Given the description of an element on the screen output the (x, y) to click on. 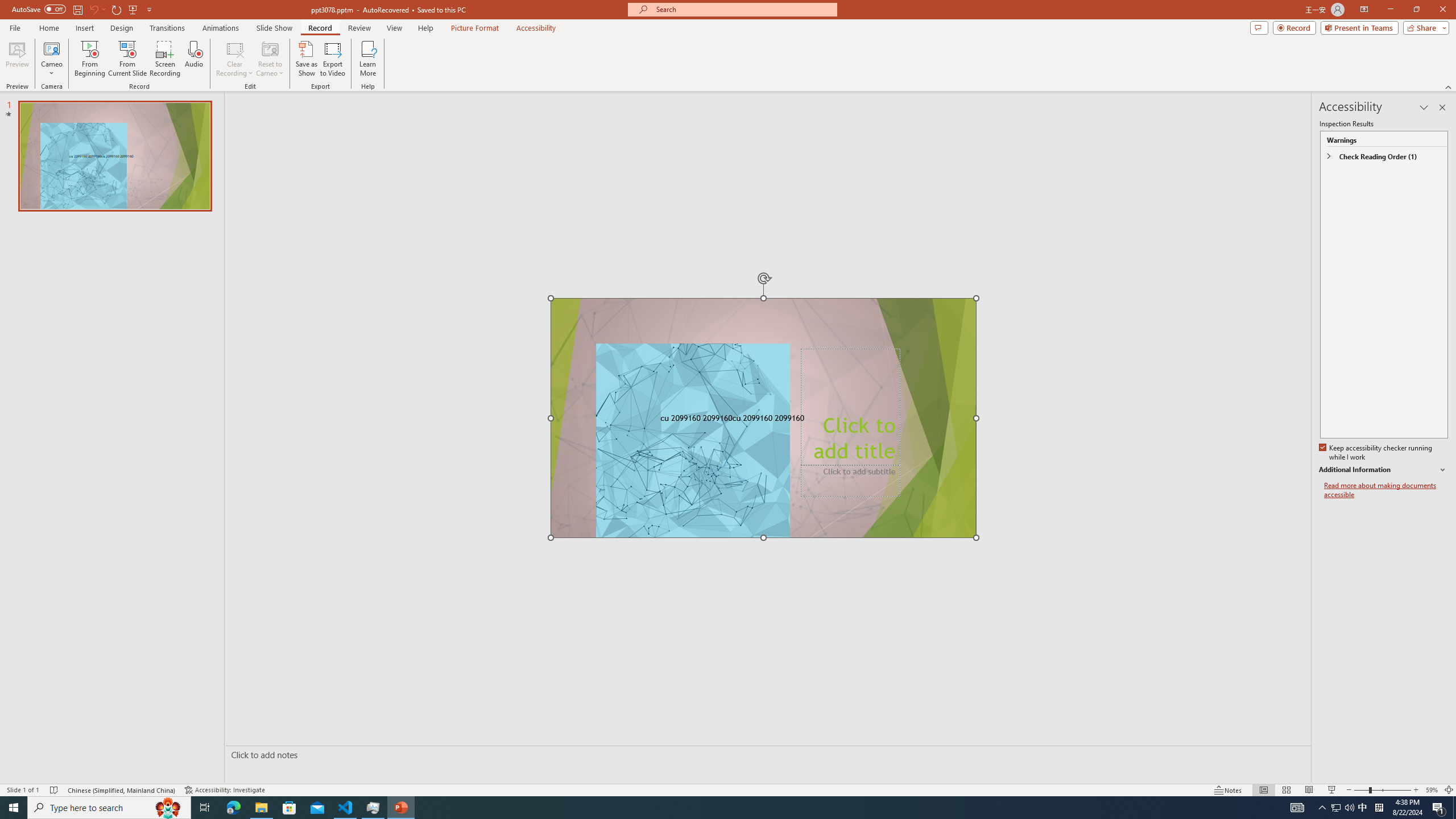
Preview (17, 58)
